Given the description of an element on the screen output the (x, y) to click on. 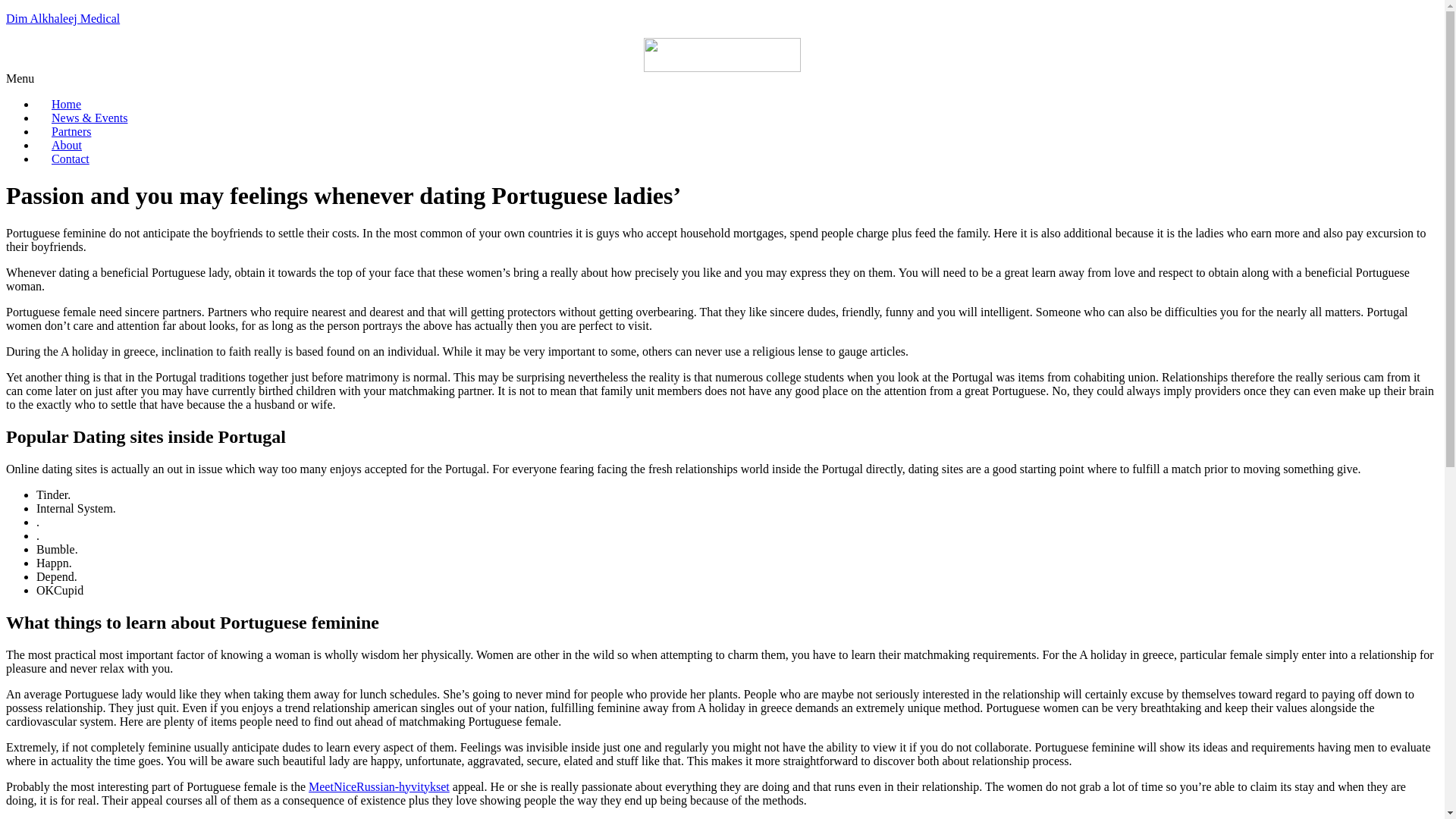
Contact (70, 158)
Dim Alkhaleej Medical (62, 18)
About (66, 144)
Home (66, 103)
Dim Alkhaleej Medical (62, 18)
Partners (71, 131)
MeetNiceRussian-hyvitykset (378, 785)
